Given the description of an element on the screen output the (x, y) to click on. 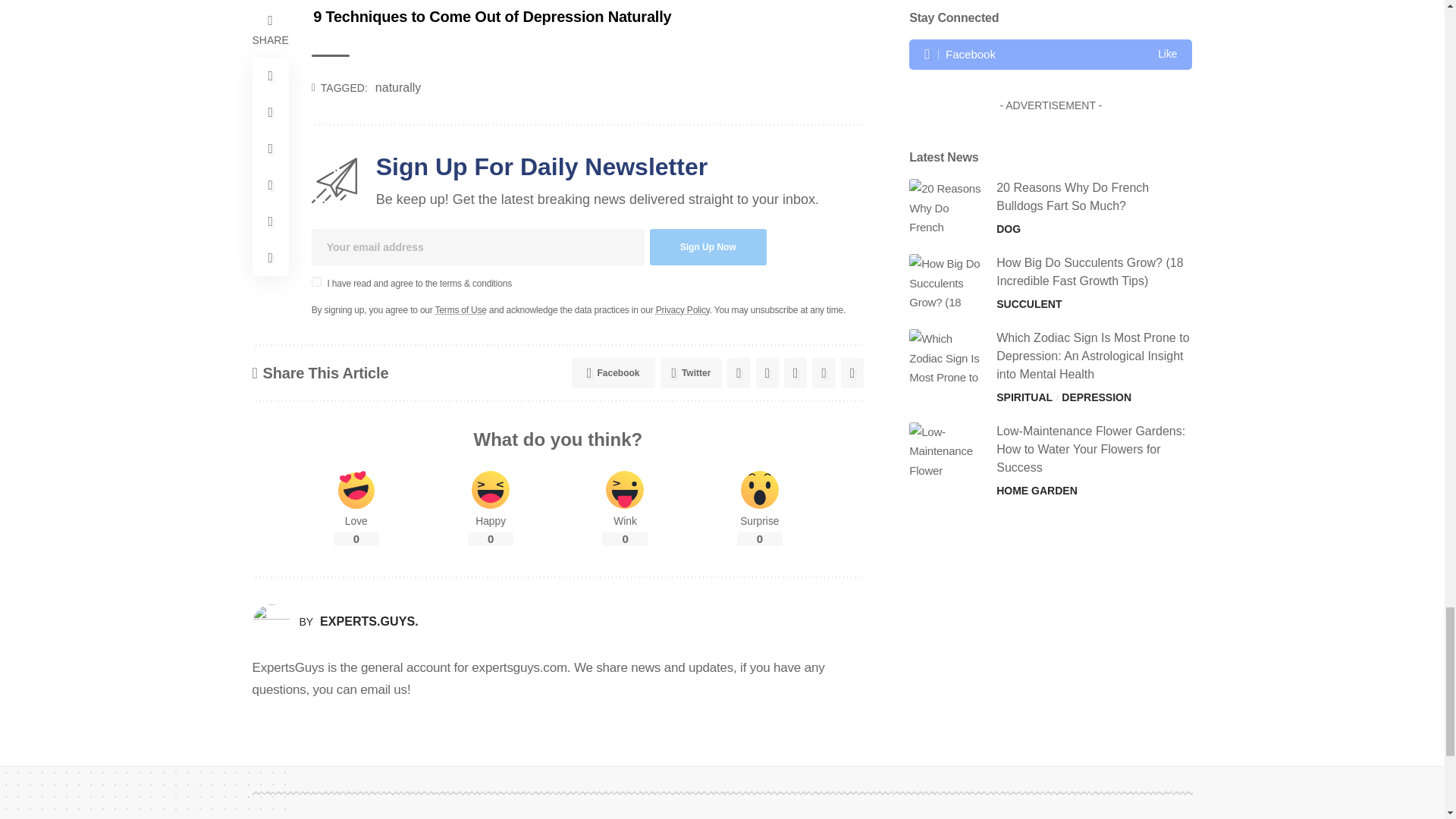
1 (316, 281)
Sign Up Now (708, 247)
